Given the description of an element on the screen output the (x, y) to click on. 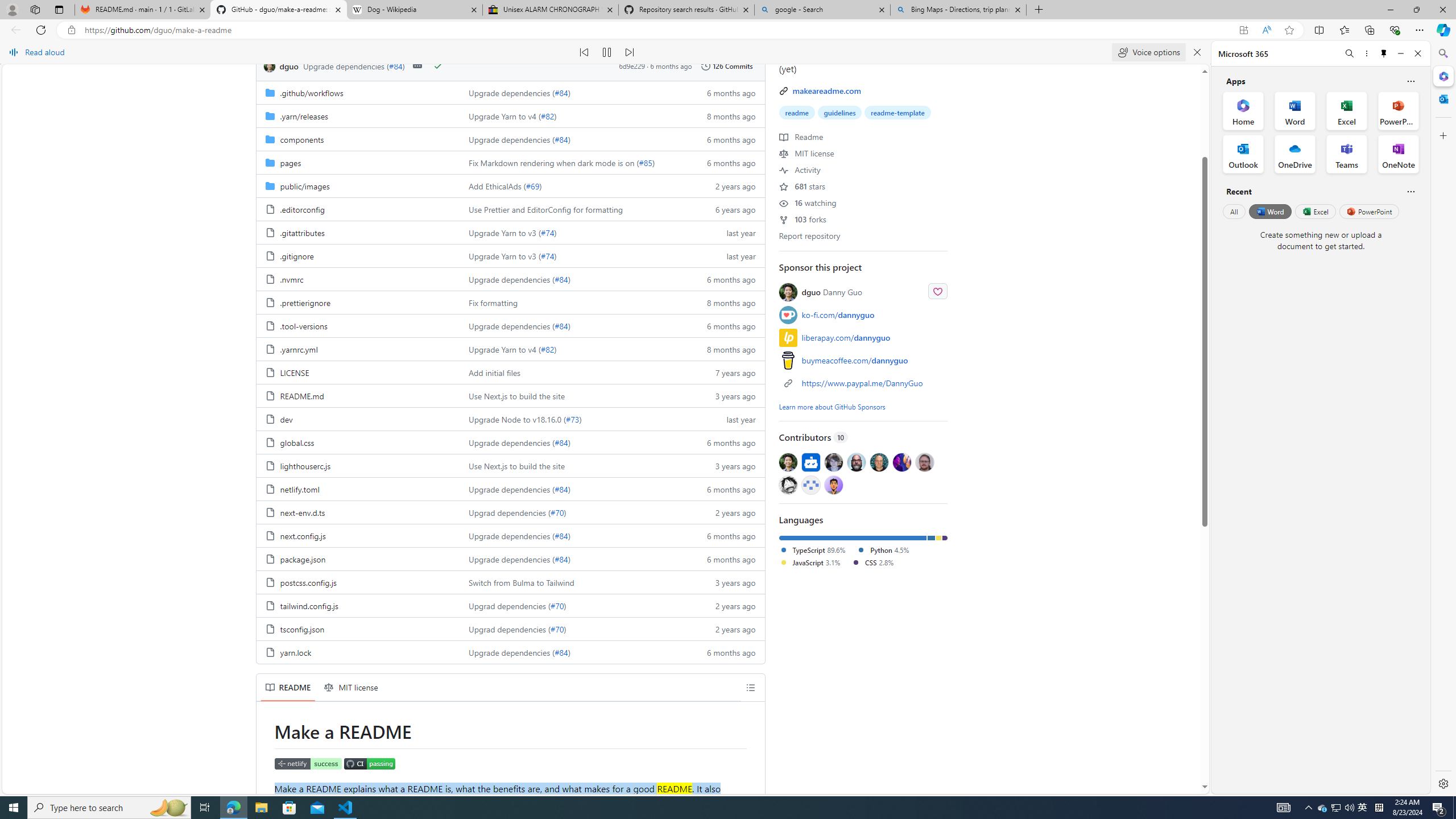
.gitignore, (File) (358, 255)
CI status (368, 763)
@Haroenv (901, 461)
16 watching (807, 202)
More options (1366, 53)
success (437, 65)
#85 (645, 162)
@paul-hammant (878, 461)
Learn more about GitHub Sponsors (831, 406)
Is this helpful? (1410, 191)
.gitattributes, (File) (358, 232)
@davidak (833, 461)
Use Prettier and EditorConfig for formatting (573, 208)
